Given the description of an element on the screen output the (x, y) to click on. 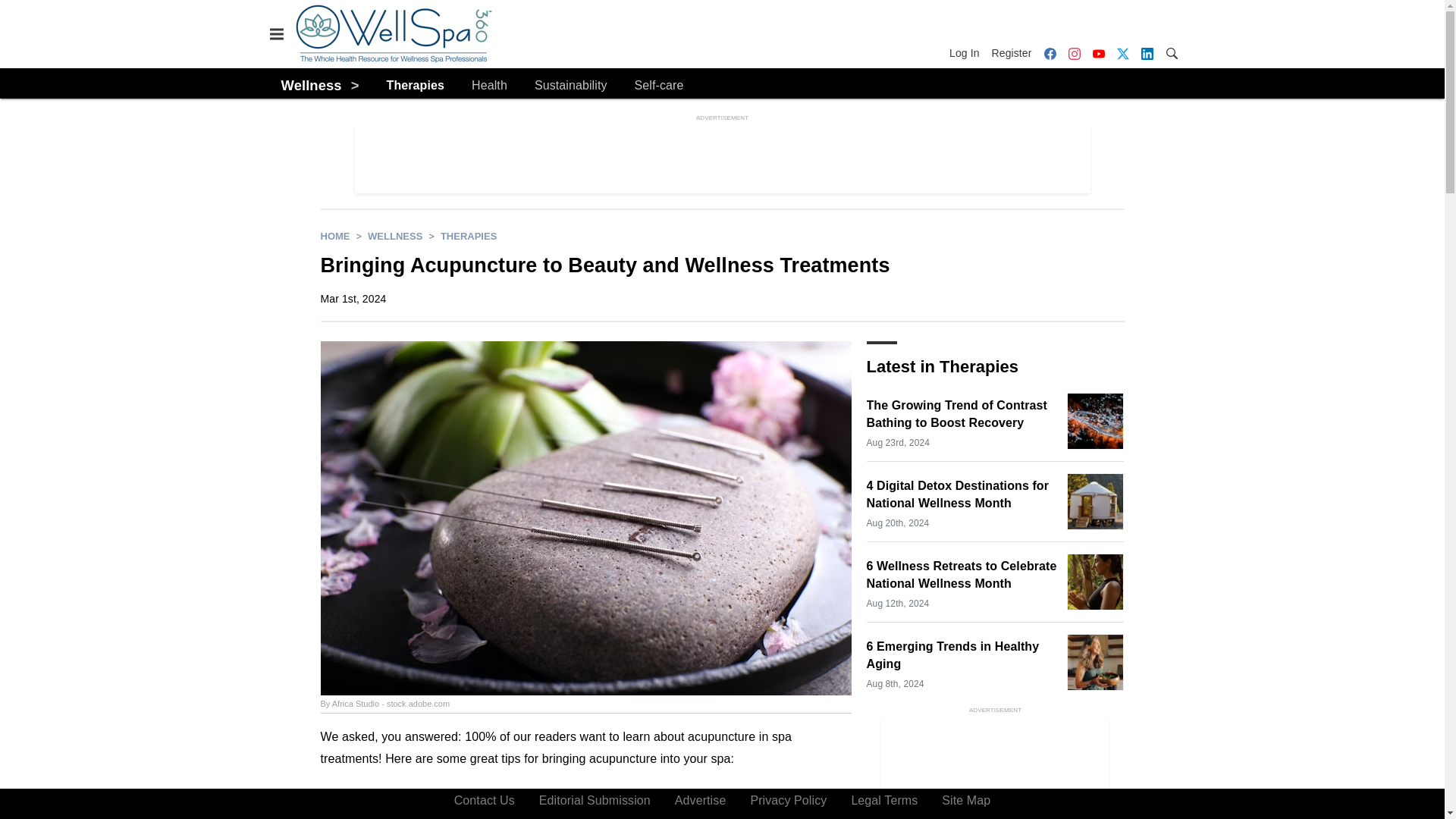
Twitter X icon (1122, 53)
Sustainability (570, 85)
Self-care (659, 85)
YouTube icon (1097, 53)
Register (1011, 53)
Facebook icon (1048, 53)
3rd party ad content (994, 768)
Log In (967, 53)
Twitter X icon (1121, 53)
Therapies (468, 235)
